Given the description of an element on the screen output the (x, y) to click on. 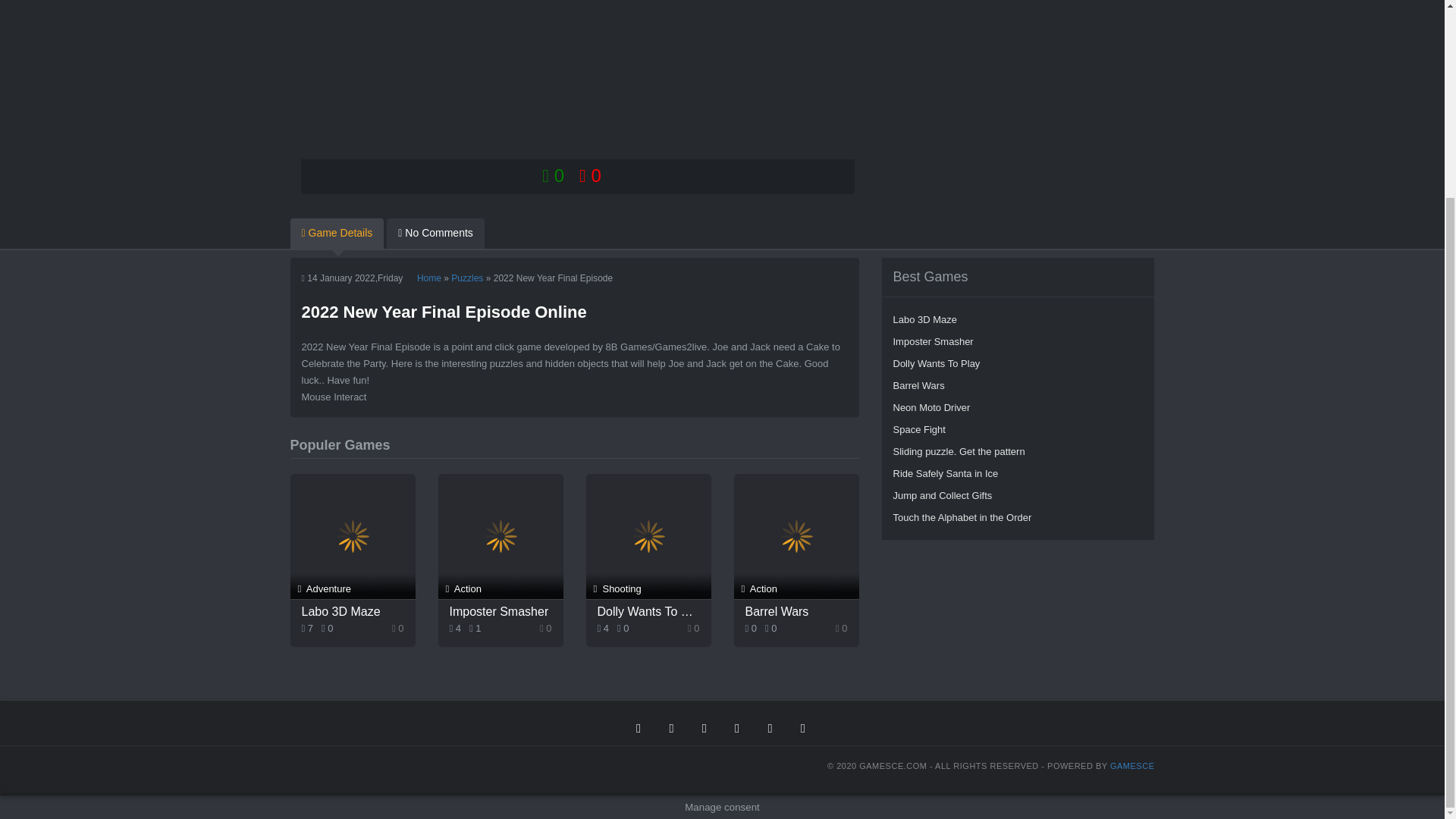
  Shooting (647, 536)
Labo 3D Maze (352, 611)
Neon Moto Driver (1017, 407)
  Adventure (351, 536)
  Action (796, 536)
Imposter Smasher (1017, 341)
Dolly Wants To Play (1017, 363)
Labo 3D Maze (352, 611)
Home (428, 277)
Labo 3D Maze (1017, 319)
